Given the description of an element on the screen output the (x, y) to click on. 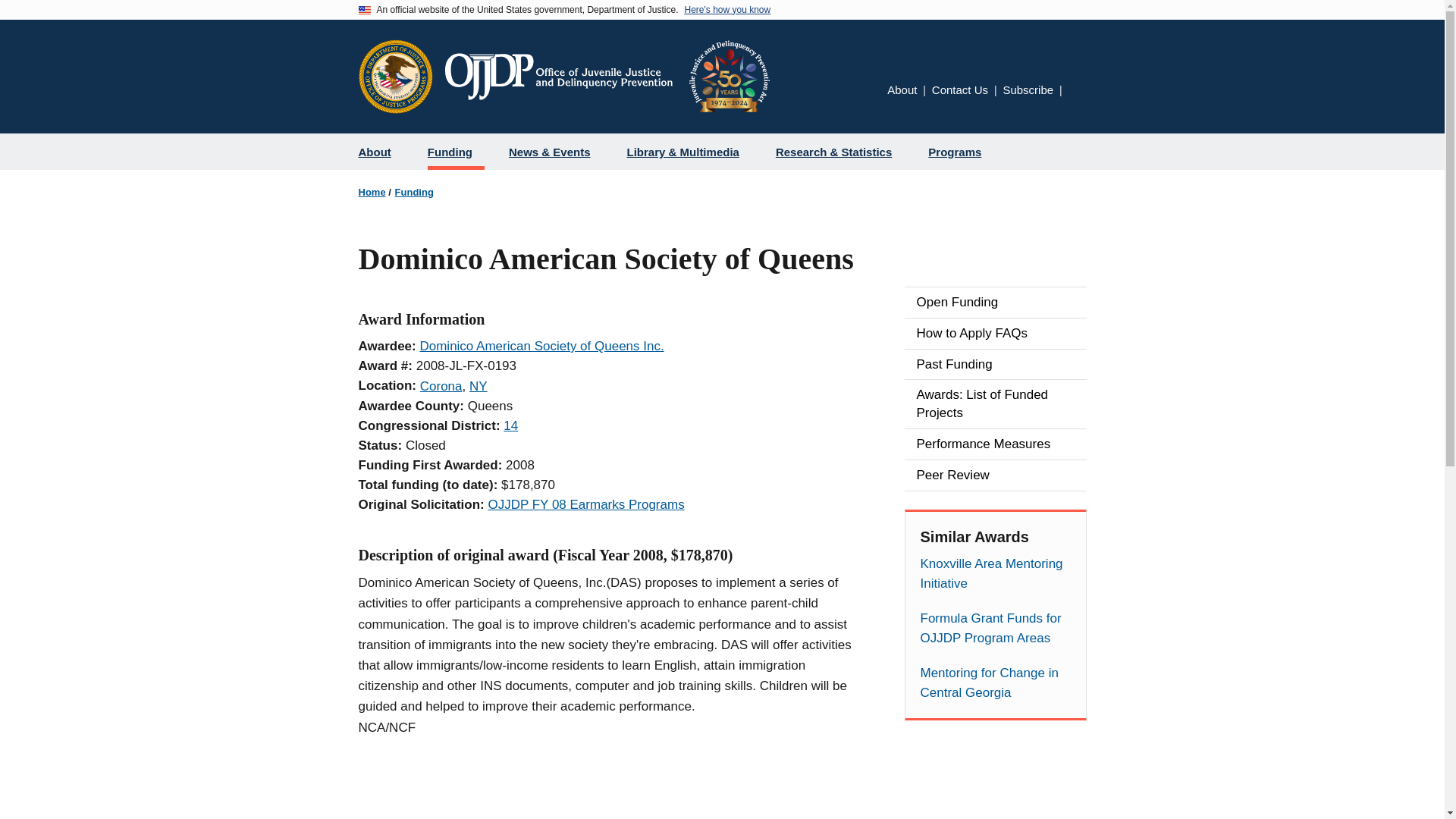
Awards: List of Funded Projects (995, 404)
Mentoring for Change in Central Georgia (995, 682)
Knoxville Area Mentoring Initiative (995, 573)
Here's how you know (727, 9)
About (380, 151)
Past Funding (995, 364)
Home (606, 76)
Subscribe (1027, 89)
Corona (441, 386)
Performance Measures (995, 444)
